Given the description of an element on the screen output the (x, y) to click on. 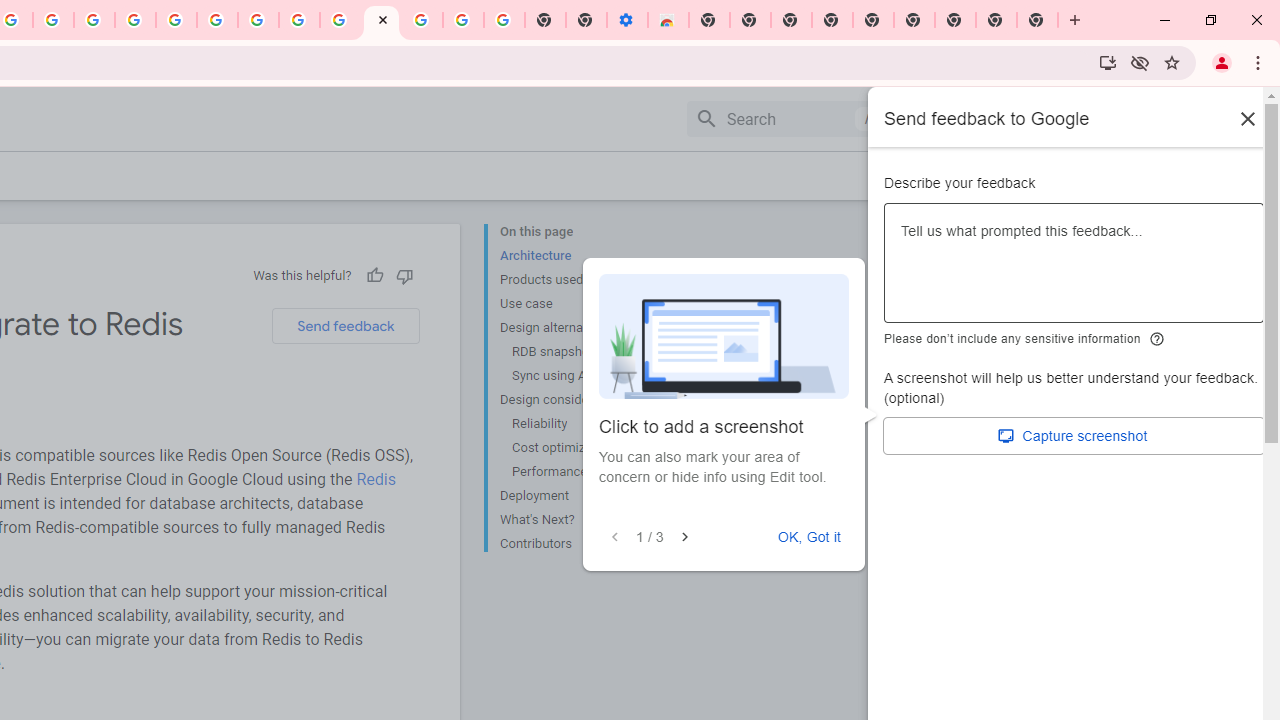
Contact Us (1050, 175)
Cost optimization (585, 448)
Turn cookies on or off - Computer - Google Account Help (503, 20)
Ad Settings (135, 20)
Docs, selected (942, 119)
Google Account Help (462, 20)
Architecture (580, 255)
New Tab (708, 20)
